Given the description of an element on the screen output the (x, y) to click on. 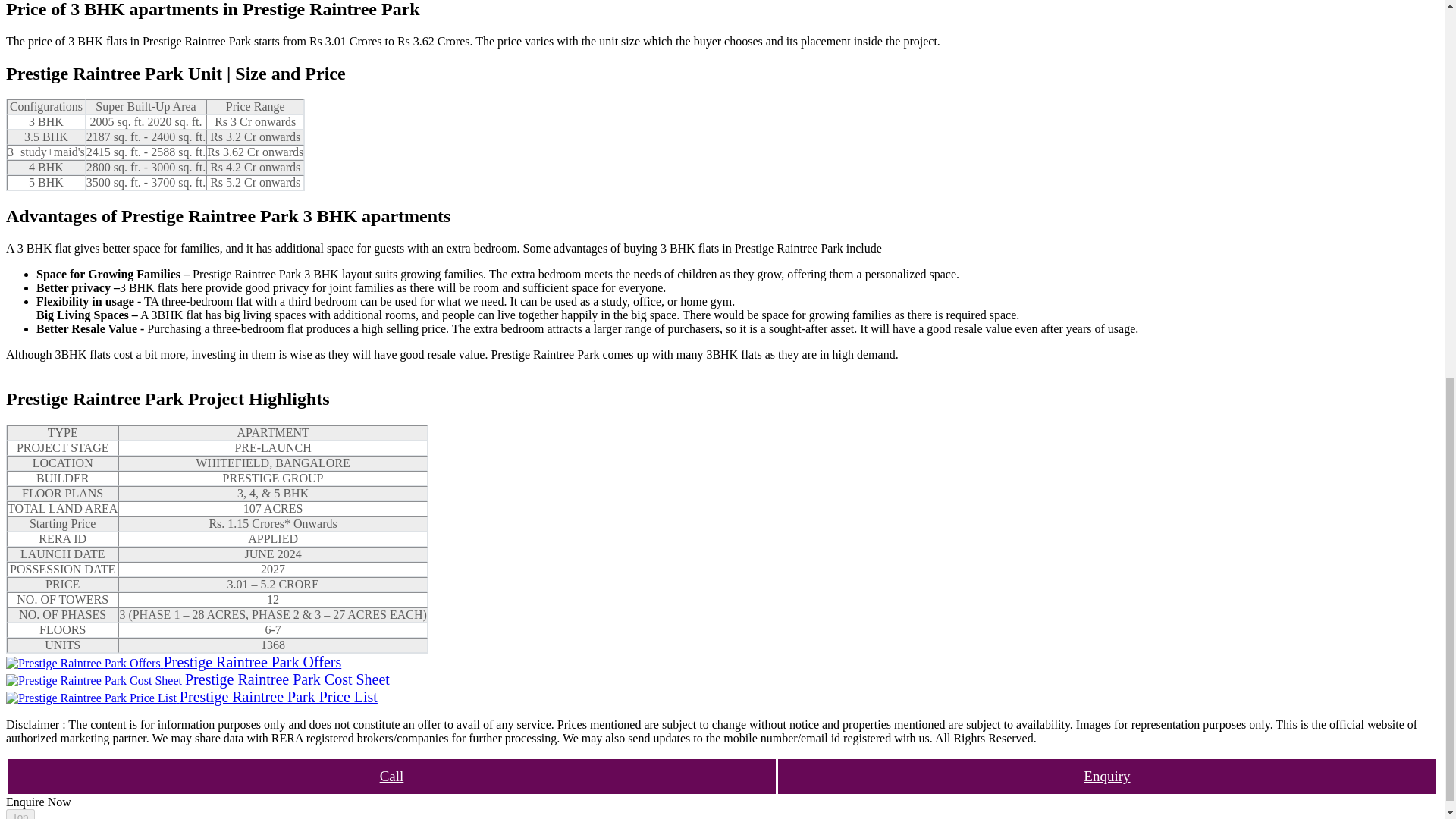
Prestige Raintree Park Cost Sheet (197, 680)
Prestige Raintree Park Cost Sheet (197, 680)
Prestige Raintree Park Price List (191, 697)
Prestige Raintree Park Offers (82, 663)
Call (391, 776)
Prestige Raintree Park Price List (90, 698)
Prestige Raintree Park Offers (172, 662)
Prestige Raintree Park Cost Sheet (93, 680)
Prestige Raintree Park Contact Us (391, 776)
Prestige Raintree Park Price List (191, 697)
